Given the description of an element on the screen output the (x, y) to click on. 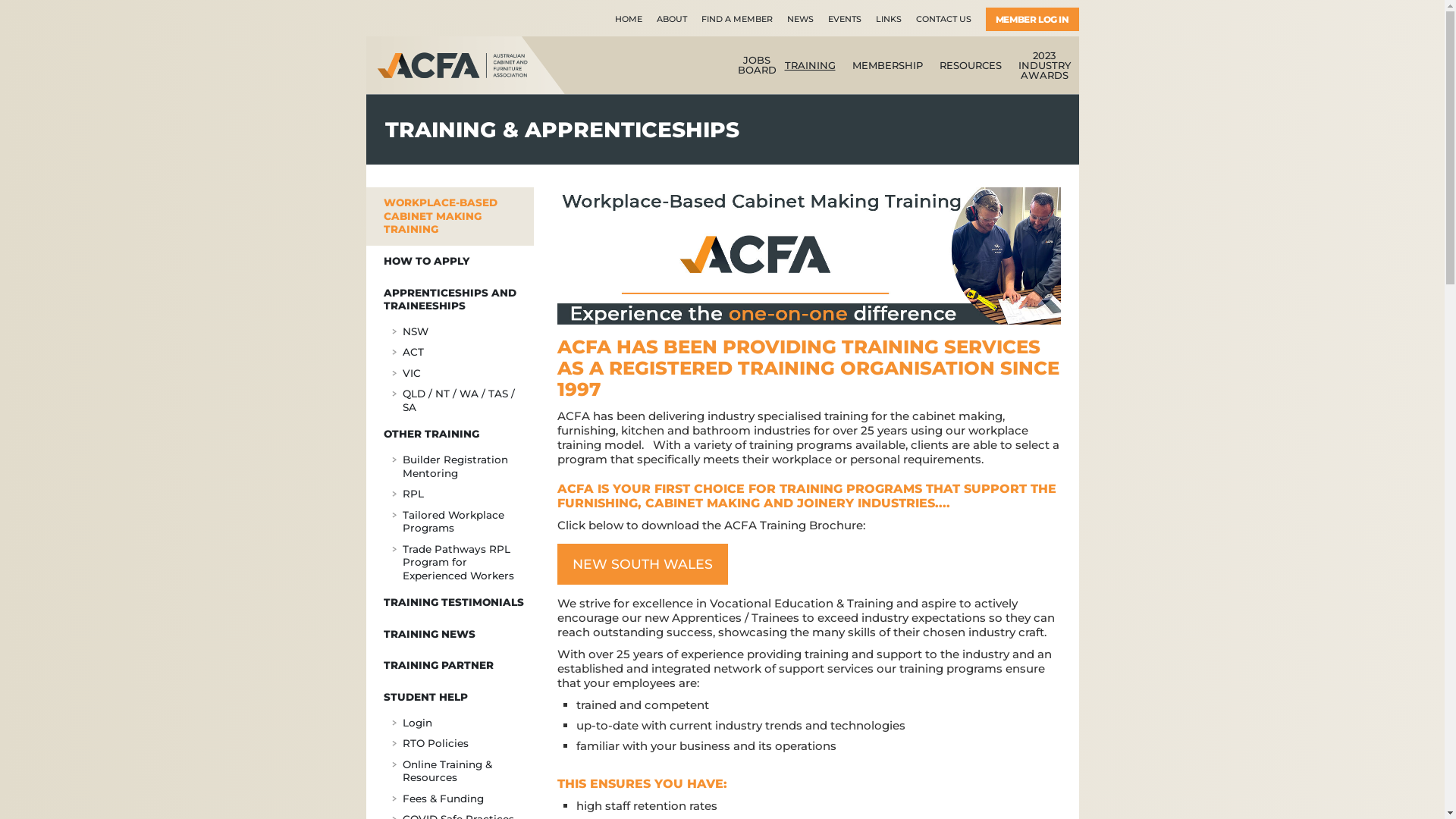
FIND A MEMBER Element type: text (736, 16)
RTO Policies Element type: text (449, 744)
OTHER TRAINING Element type: text (449, 434)
NEWS Element type: text (800, 16)
Tailored Workplace Programs Element type: text (449, 522)
Login Element type: text (449, 723)
2023 INDUSTRY AWARDS Element type: text (1044, 65)
HOME Element type: text (628, 16)
RESOURCES Element type: text (970, 65)
EVENTS Element type: text (844, 16)
ABOUT Element type: text (671, 16)
Builder Registration Mentoring Element type: text (449, 467)
NSW Element type: text (449, 332)
HOW TO APPLY Element type: text (449, 261)
QLD / NT / WA / TAS / SA Element type: text (449, 401)
ACT Element type: text (449, 353)
APPRENTICESHIPS AND TRAINEESHIPS Element type: text (449, 299)
Online Training & Resources Element type: text (449, 772)
Fees & Funding Element type: text (449, 799)
VIC Element type: text (449, 374)
MEMBERSHIP Element type: text (886, 65)
JOBS BOARD Element type: text (752, 65)
TRAINING NEWS Element type: text (449, 634)
TRAINING PARTNER Element type: text (449, 665)
TRAINING TESTIMONIALS Element type: text (449, 602)
MEMBER LOG IN Element type: text (1032, 19)
WORKPLACE-BASED CABINET MAKING TRAINING Element type: text (449, 216)
Trade Pathways RPL Program for Experienced Workers Element type: text (449, 563)
STUDENT HELP Element type: text (449, 697)
TRAINING Element type: text (810, 65)
LINKS Element type: text (888, 16)
CONTACT US Element type: text (943, 16)
RPL Element type: text (449, 494)
NEW SOUTH WALES Element type: text (642, 563)
